Given the description of an element on the screen output the (x, y) to click on. 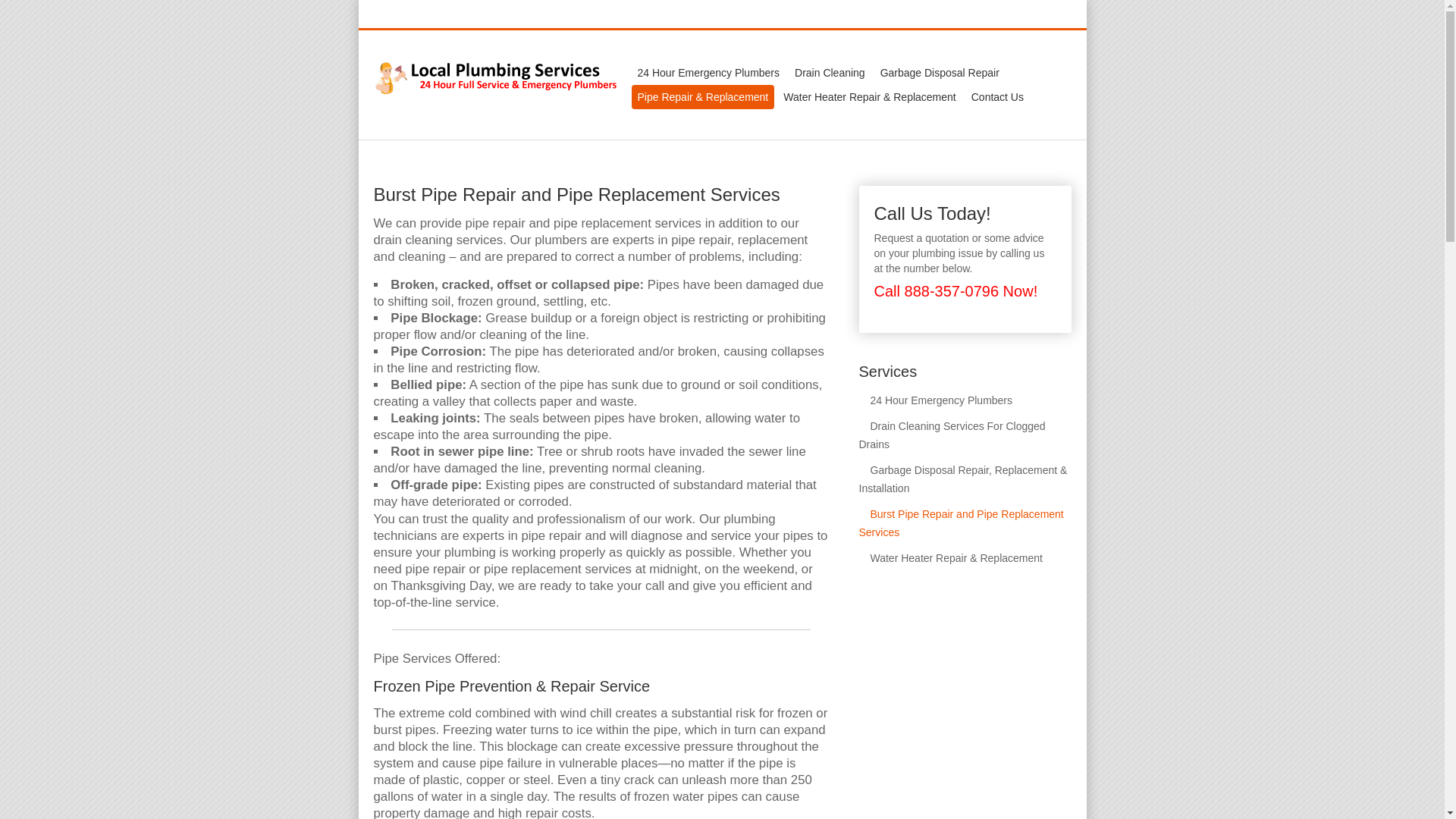
Drain Cleaning (829, 72)
Contact Us (997, 96)
24 Hour Emergency Plumbers (708, 72)
Garbage Disposal Repair (940, 72)
888-357-0796 (1034, 15)
